Given the description of an element on the screen output the (x, y) to click on. 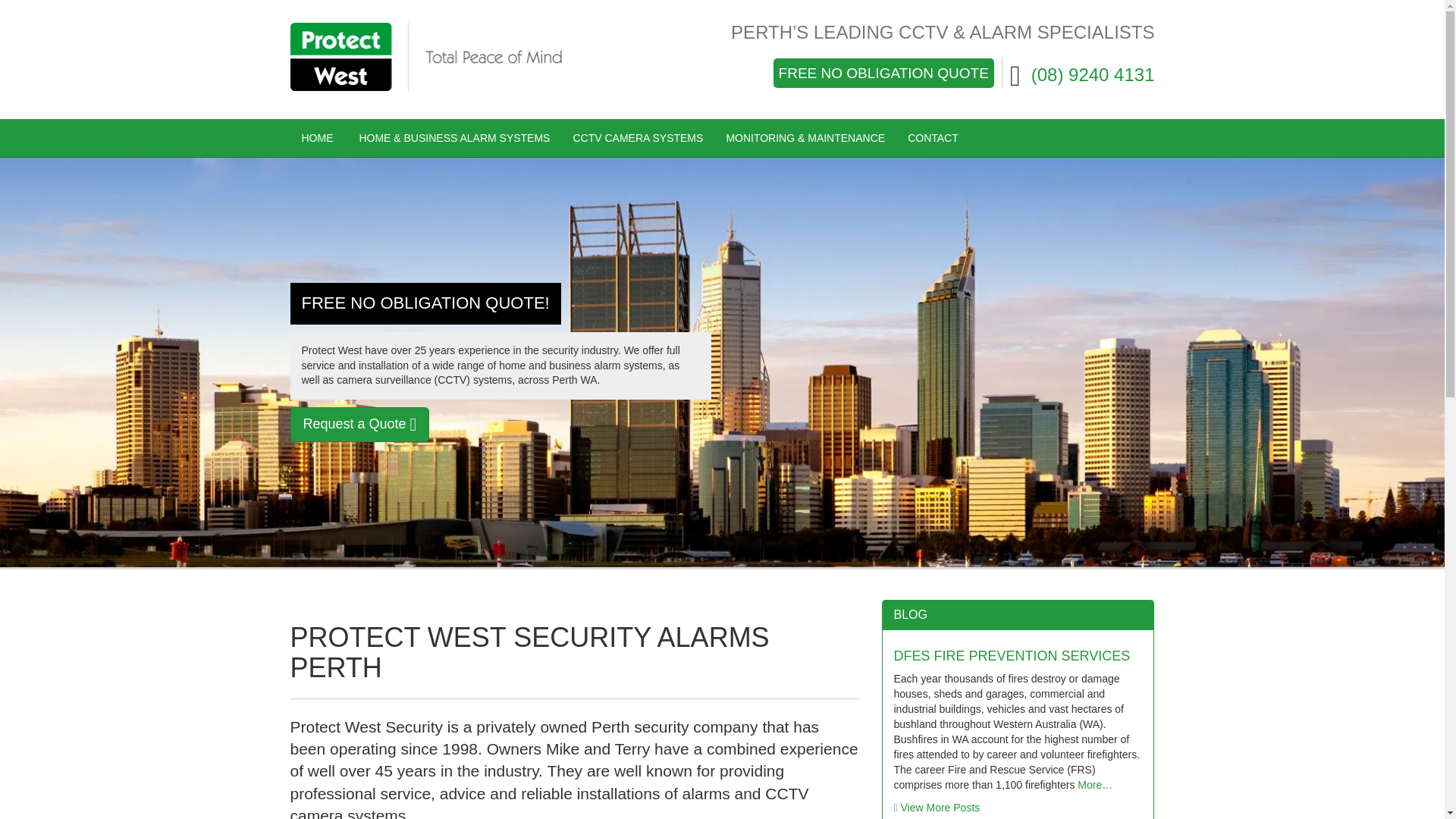
HOME (316, 137)
Home (316, 137)
Contact (932, 137)
CCTV CAMERA SYSTEMS (637, 137)
FREE NO OBLIGATION QUOTE (883, 72)
CCTV Camera Systems (637, 137)
View More Posts (936, 807)
Request a Quote (359, 424)
Protect West Security Logo (425, 56)
CONTACT (932, 137)
